Given the description of an element on the screen output the (x, y) to click on. 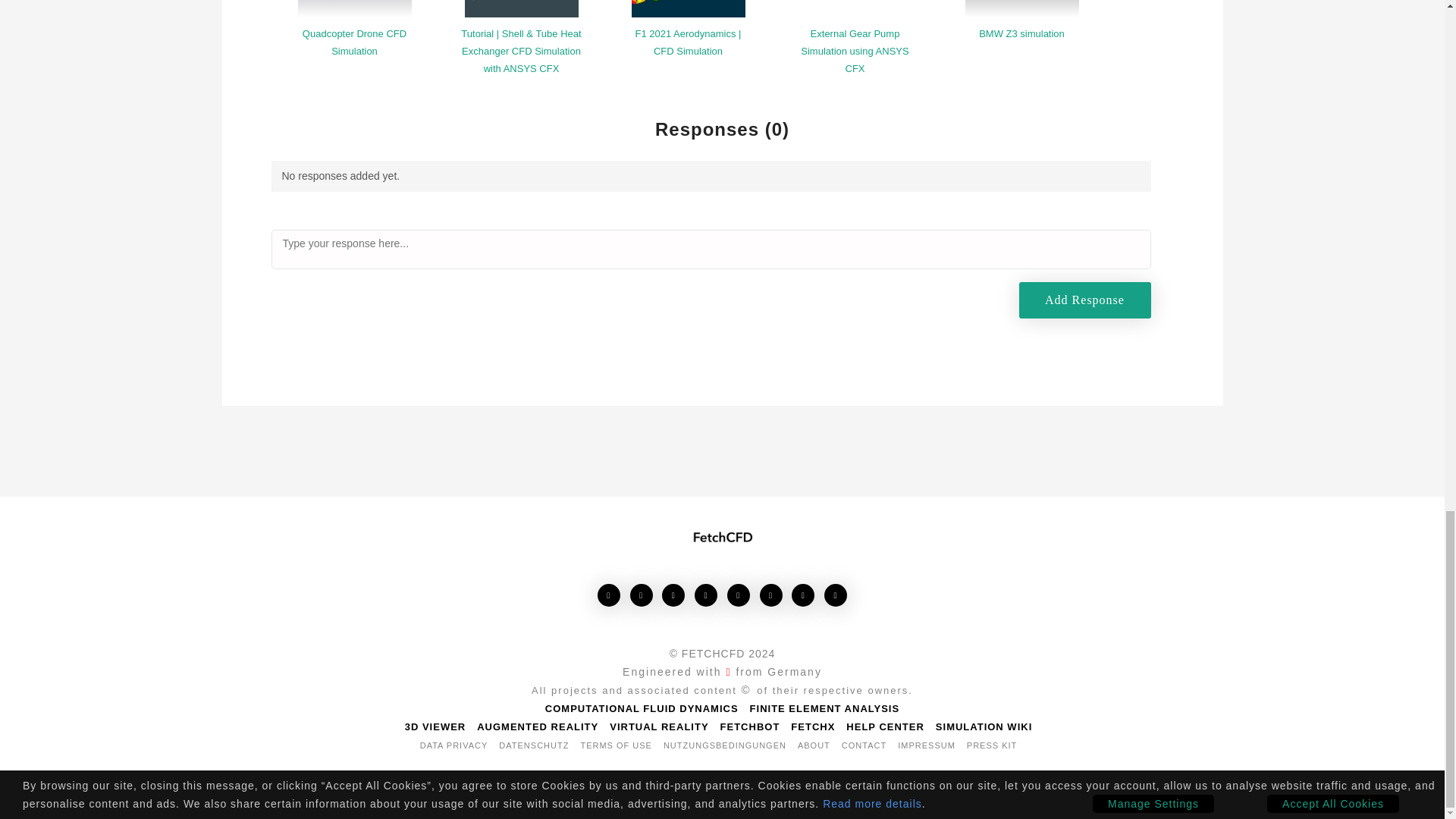
Add Response (1085, 299)
